Given the description of an element on the screen output the (x, y) to click on. 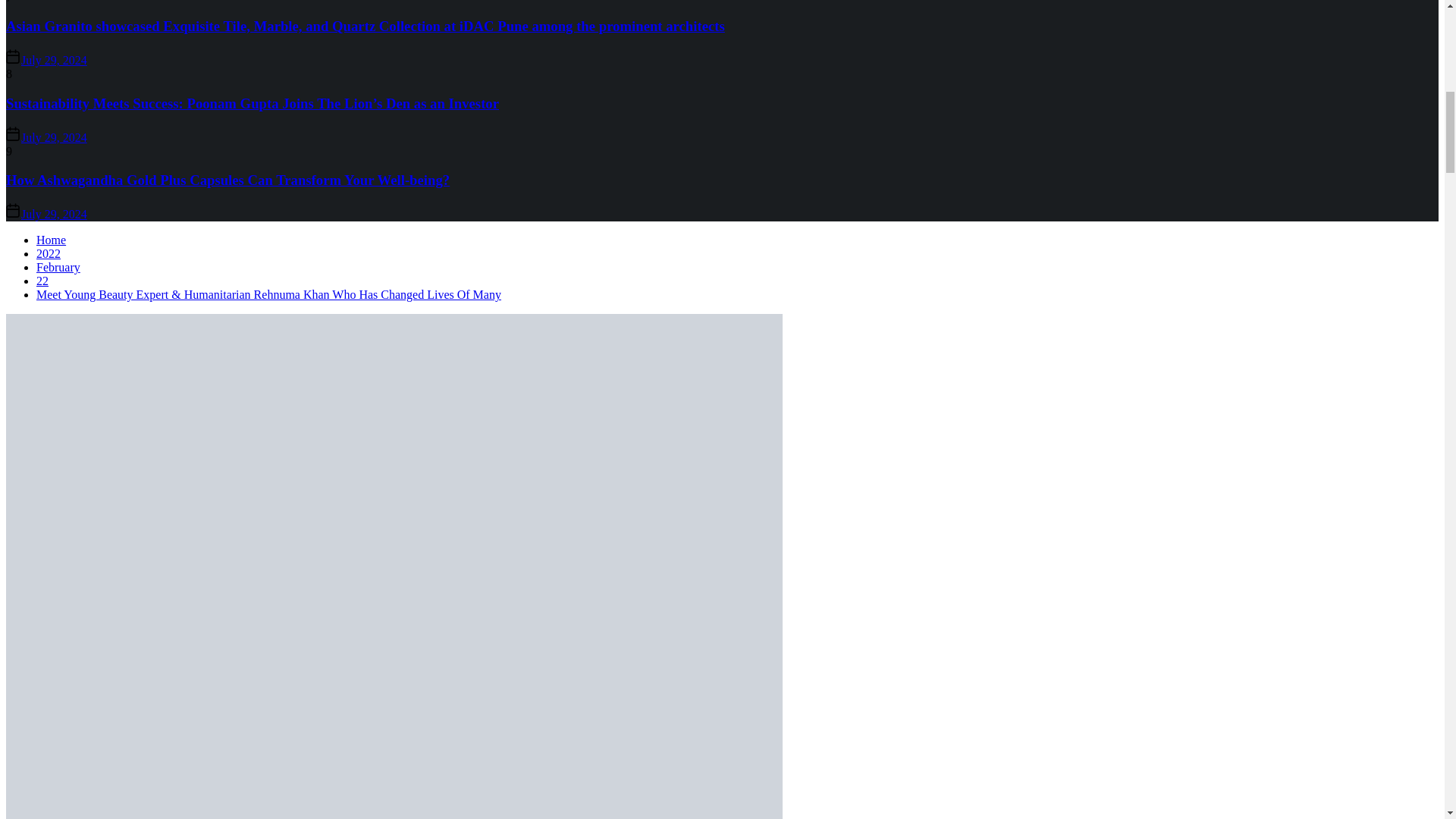
July 29, 2024 (54, 60)
